Given the description of an element on the screen output the (x, y) to click on. 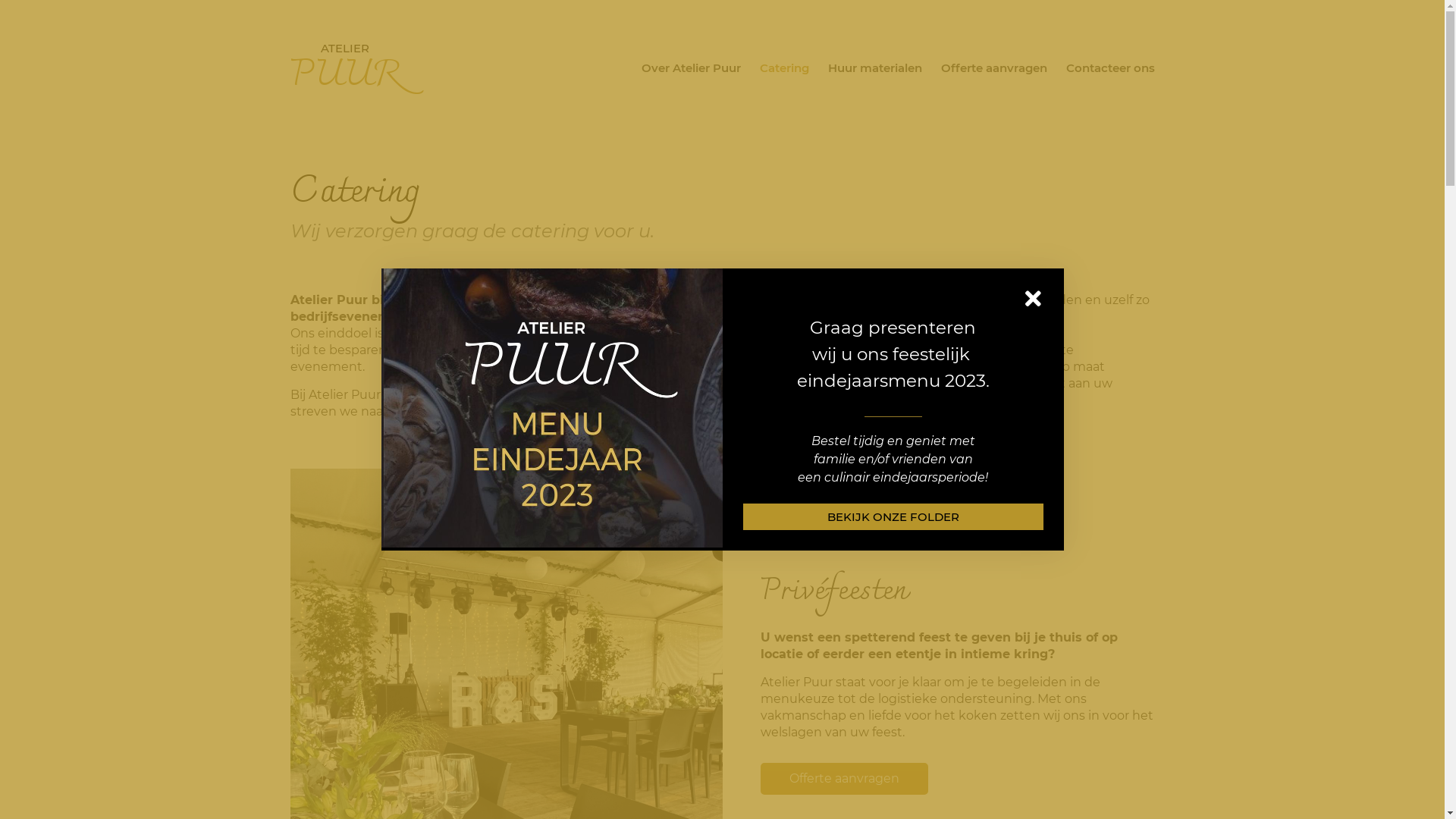
Catering Element type: text (784, 67)
Offerte aanvragen Element type: text (993, 67)
BEKIJK ONZE FOLDER Element type: text (892, 516)
Over Atelier Puur Element type: text (690, 67)
Offerte aanvragen Element type: text (843, 778)
Huur materialen Element type: text (875, 67)
Contacteer ons Element type: text (1110, 67)
